Given the description of an element on the screen output the (x, y) to click on. 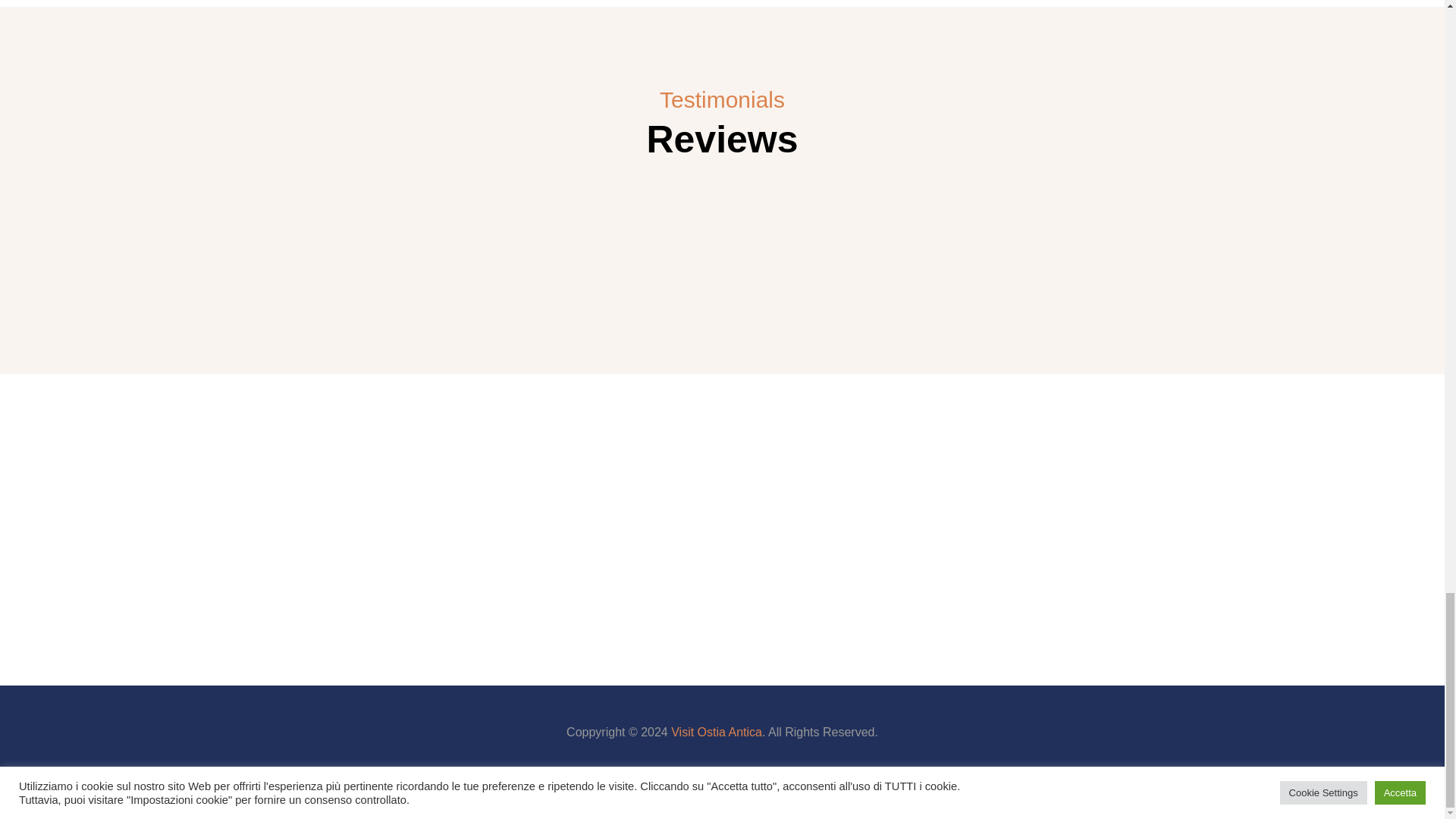
English (778, 794)
Visit Ostia Antica (716, 731)
